Given the description of an element on the screen output the (x, y) to click on. 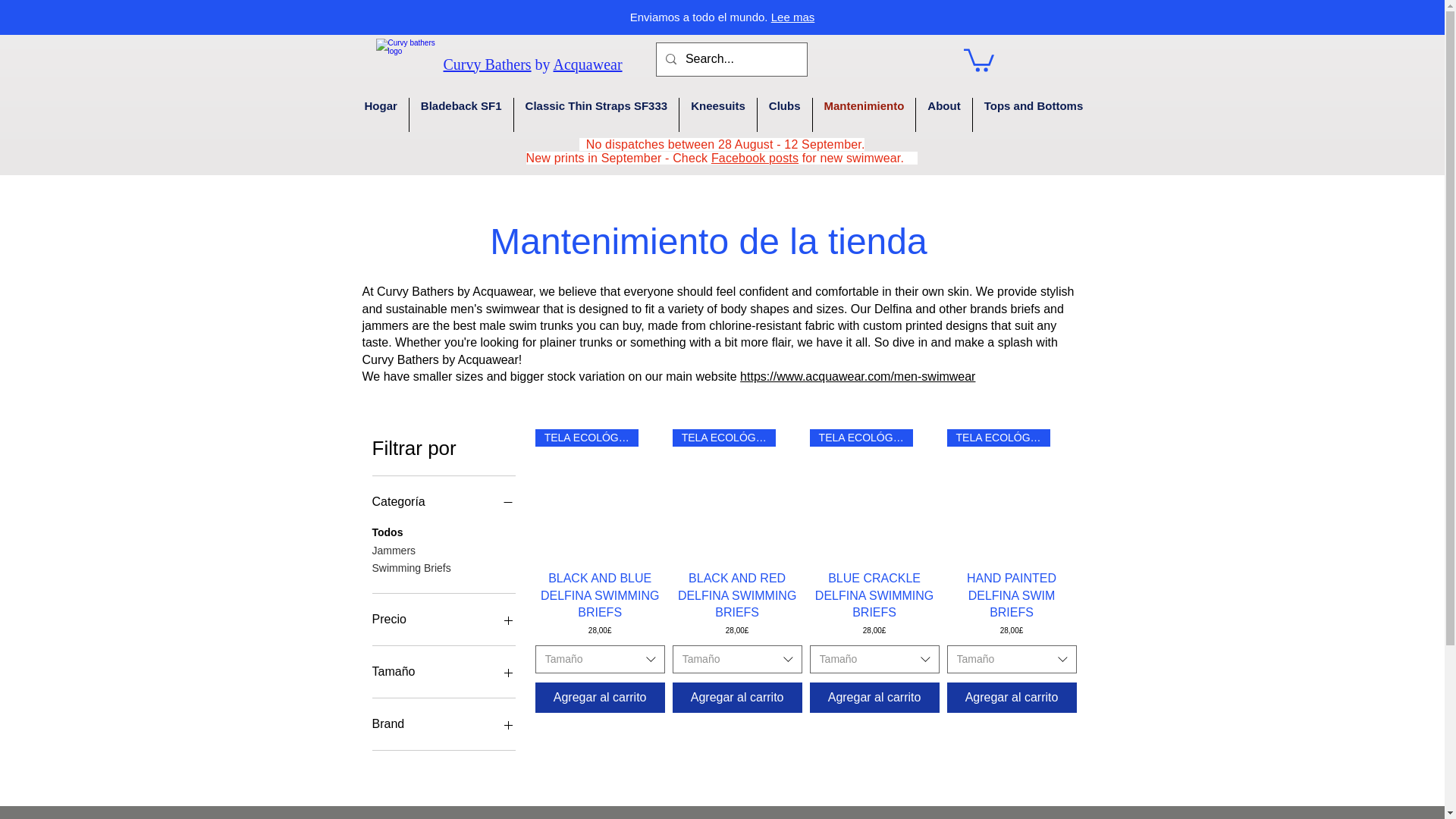
our logo (405, 61)
Tops and Bottoms (1033, 114)
Hogar (381, 114)
Acquawear (588, 64)
Lee mas (793, 16)
Curvy Bathers (486, 64)
Classic Thin Straps SF333 (596, 114)
About (943, 114)
